Given the description of an element on the screen output the (x, y) to click on. 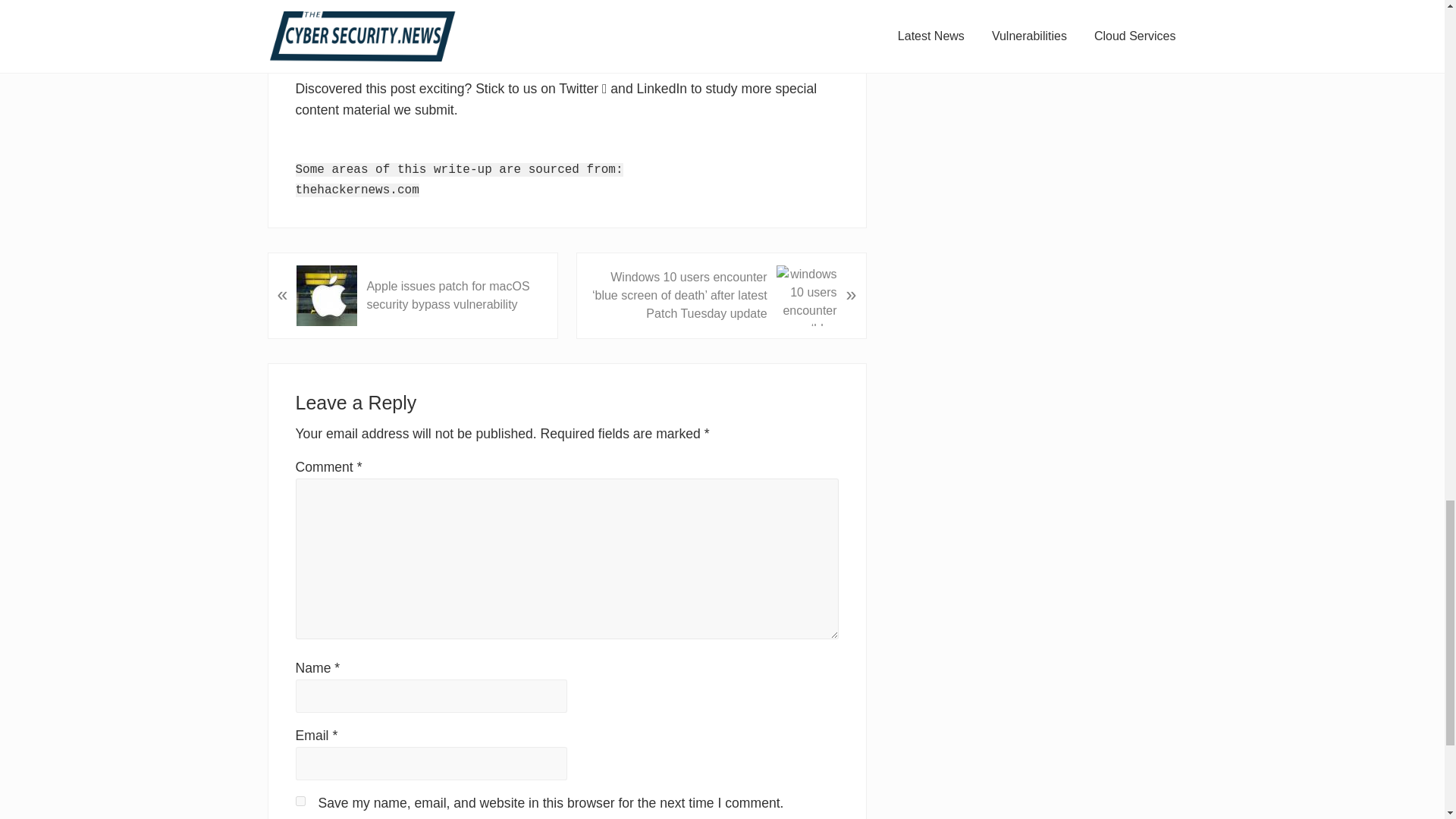
yes (300, 800)
